Given the description of an element on the screen output the (x, y) to click on. 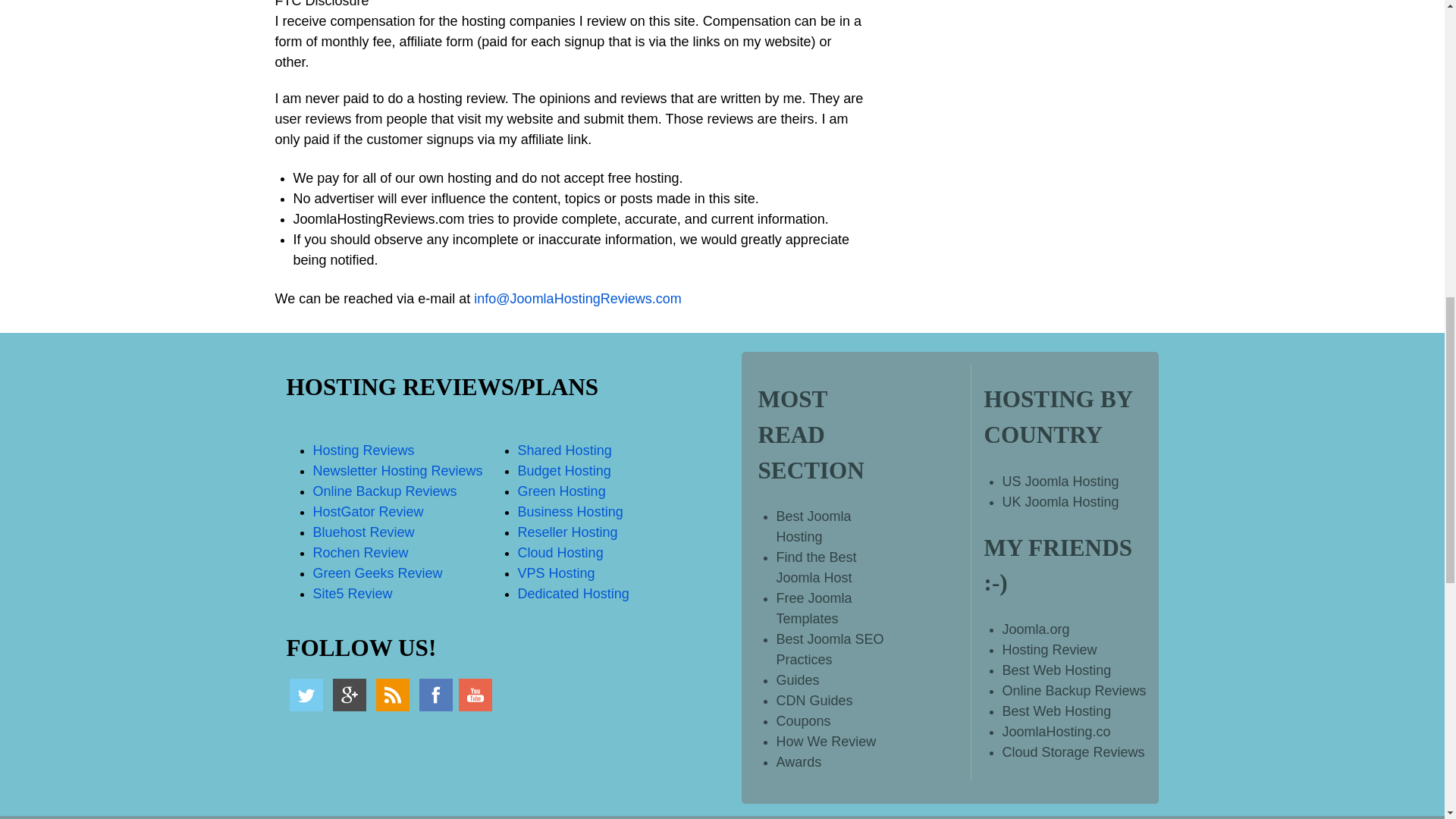
Newsletter Hosting Reviews (397, 470)
All Shared Joomla Hosting Companies (564, 450)
Online Backup Service Reviews (385, 491)
All Joomla Hosting Reseller Companies (567, 531)
Site5 Hosting Review (352, 593)
All Budget Joomla Hosting Companies (564, 470)
Bluehost Review for Joomla Hosting (363, 531)
Joomla Hosting Reviews on Twitter (306, 694)
GreenGeeks Review for Joomla Hosting (377, 572)
All Joomla Cloud Hosting Companies (561, 552)
